Given the description of an element on the screen output the (x, y) to click on. 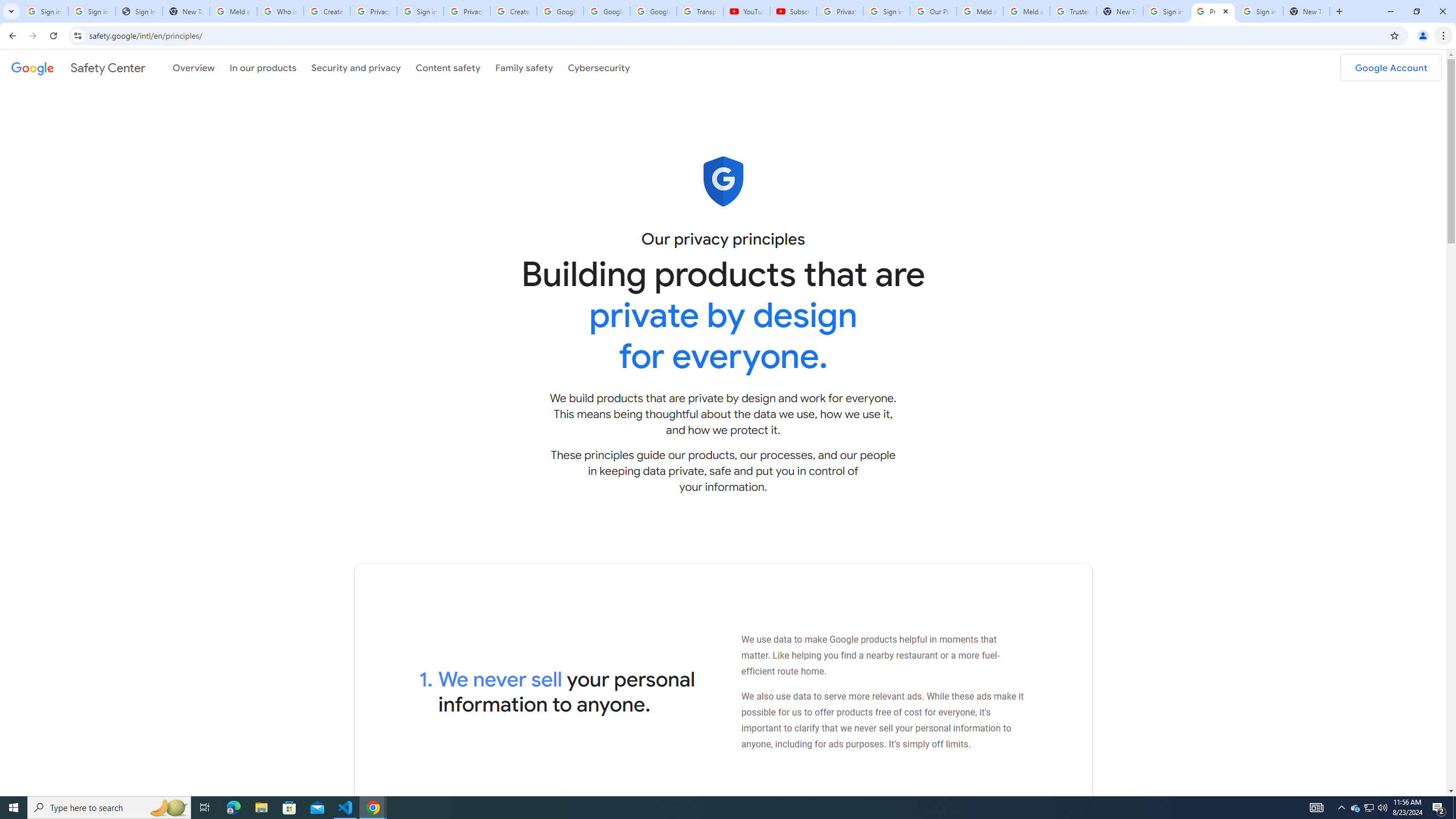
In our products (262, 67)
Sign in - Google Accounts (1166, 11)
Sign in - Google Accounts (419, 11)
